Given the description of an element on the screen output the (x, y) to click on. 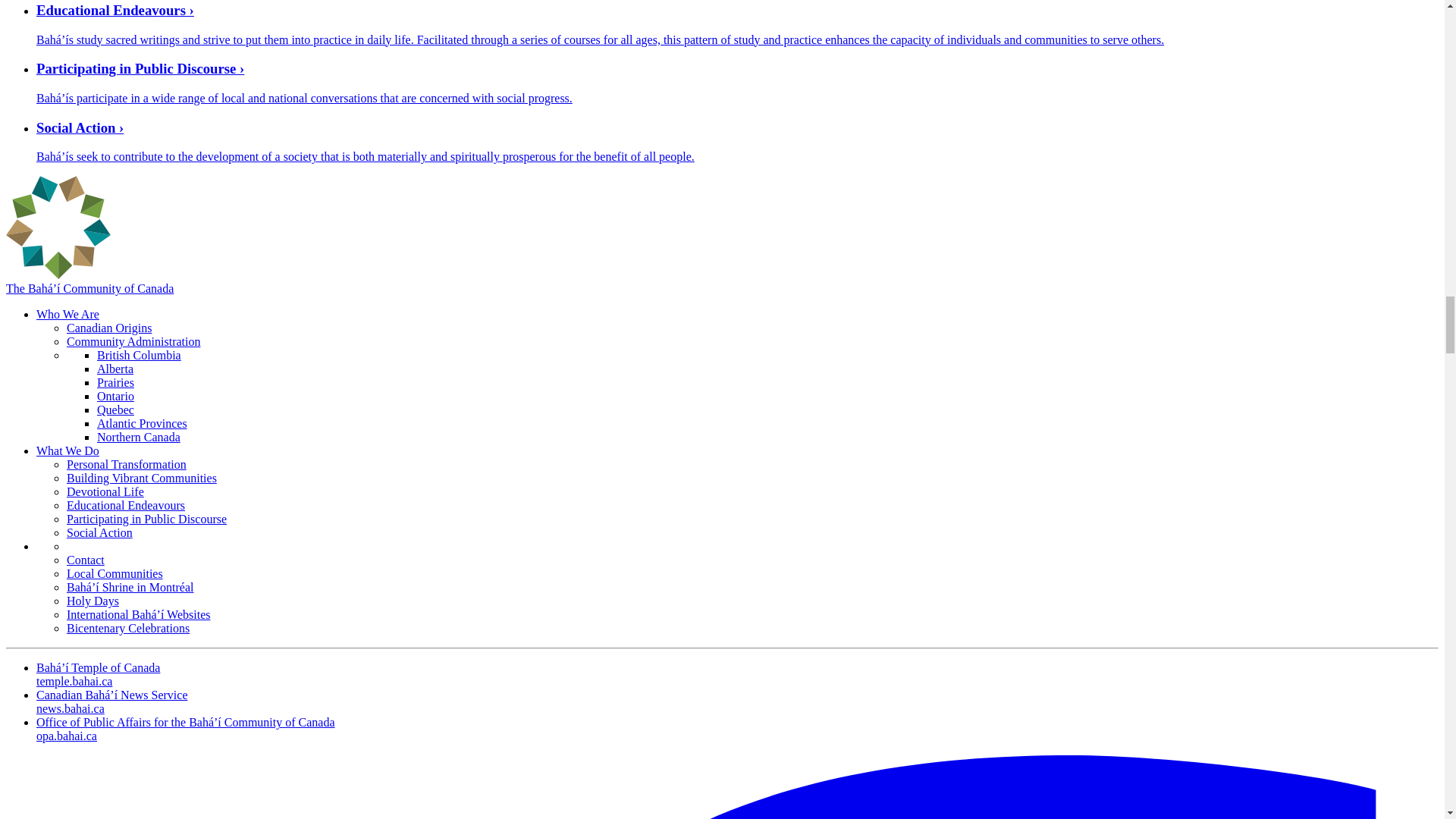
What We Do (67, 450)
British Columbia (138, 354)
Who We Are (67, 314)
Personal Transformation (126, 463)
Quebec (115, 409)
Community Administration (133, 341)
Devotional Life (105, 491)
Prairies (115, 382)
Ontario (115, 395)
Northern Canada (138, 436)
